Given the description of an element on the screen output the (x, y) to click on. 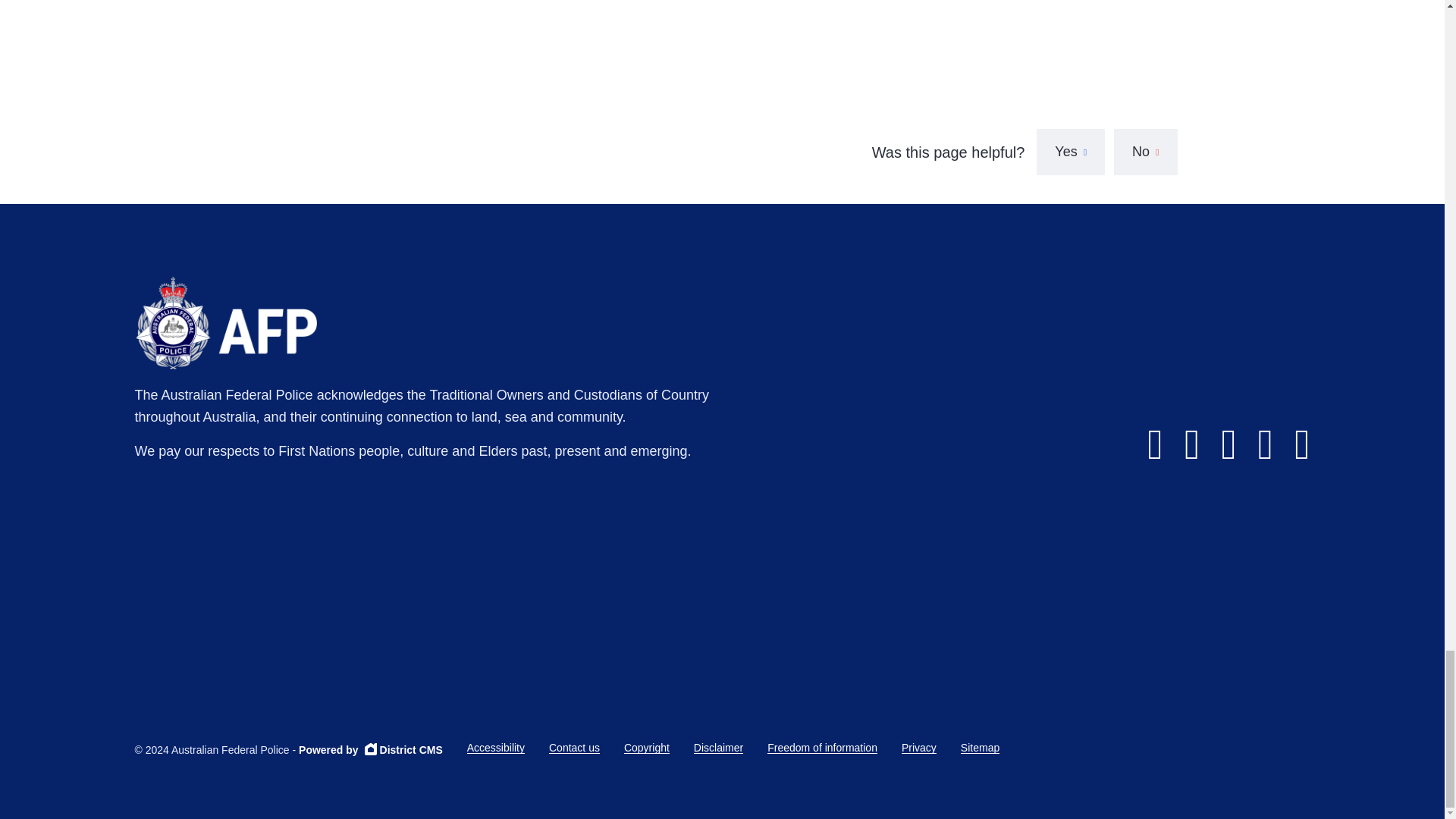
View (377, 4)
Accessibility (495, 747)
Freedom of information (822, 747)
Copyright (646, 747)
Contact us (573, 747)
Government Content Management System (370, 749)
Disclaimer (718, 747)
Privacy (918, 747)
View (607, 4)
